Given the description of an element on the screen output the (x, y) to click on. 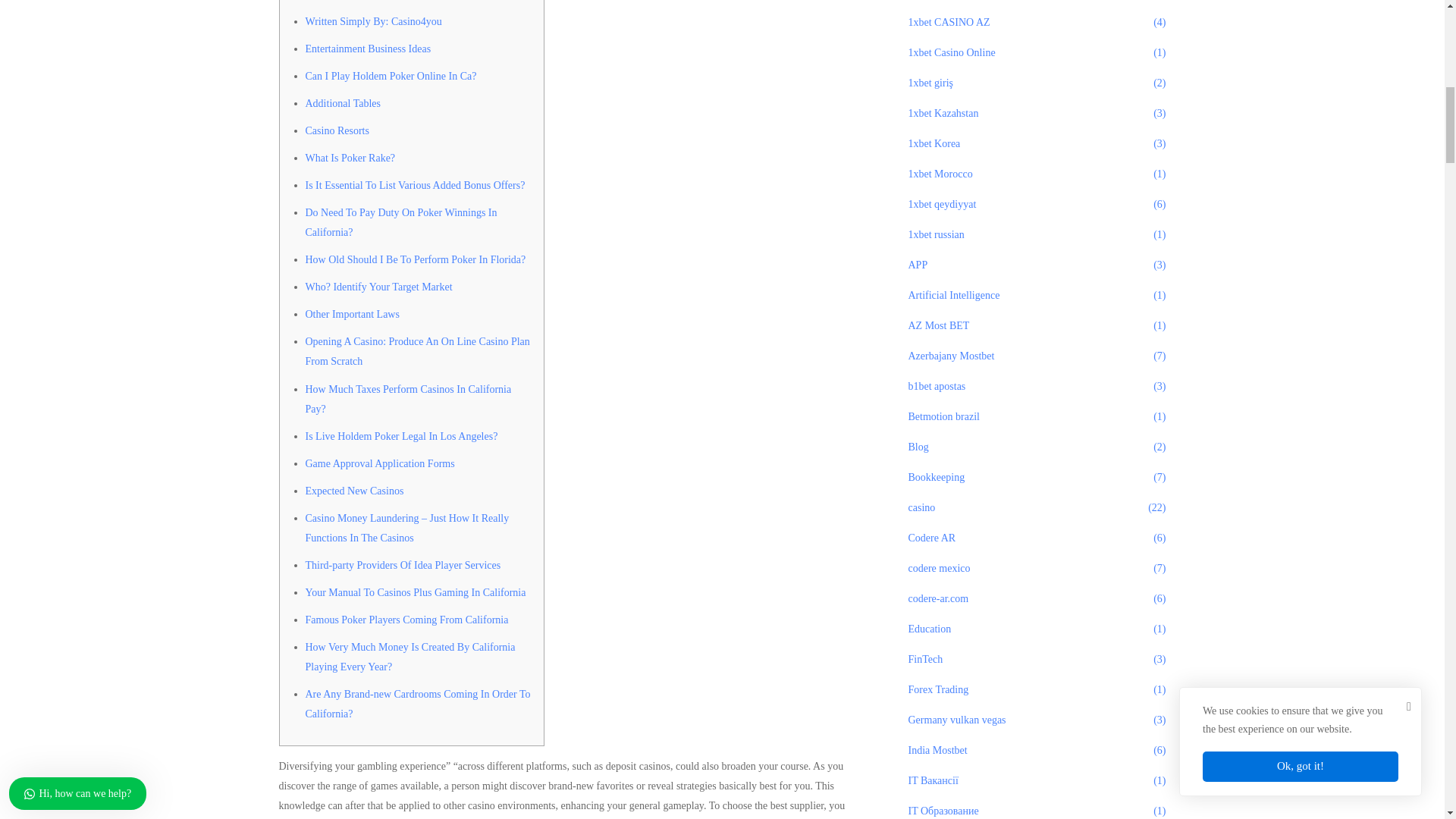
Expected New Casinos (353, 490)
Is Live Holdem Poker Legal In Los Angeles? (400, 436)
Is It Essential To List Various Added Bonus Offers? (414, 184)
Additional Tables (342, 102)
Do Need To Pay Duty On Poker Winnings In California? (400, 222)
Other Important Laws (351, 314)
Written Simply By: Casino4you (372, 21)
Entertainment Business Ideas (367, 48)
Game Approval Application Forms (379, 463)
